Given the description of an element on the screen output the (x, y) to click on. 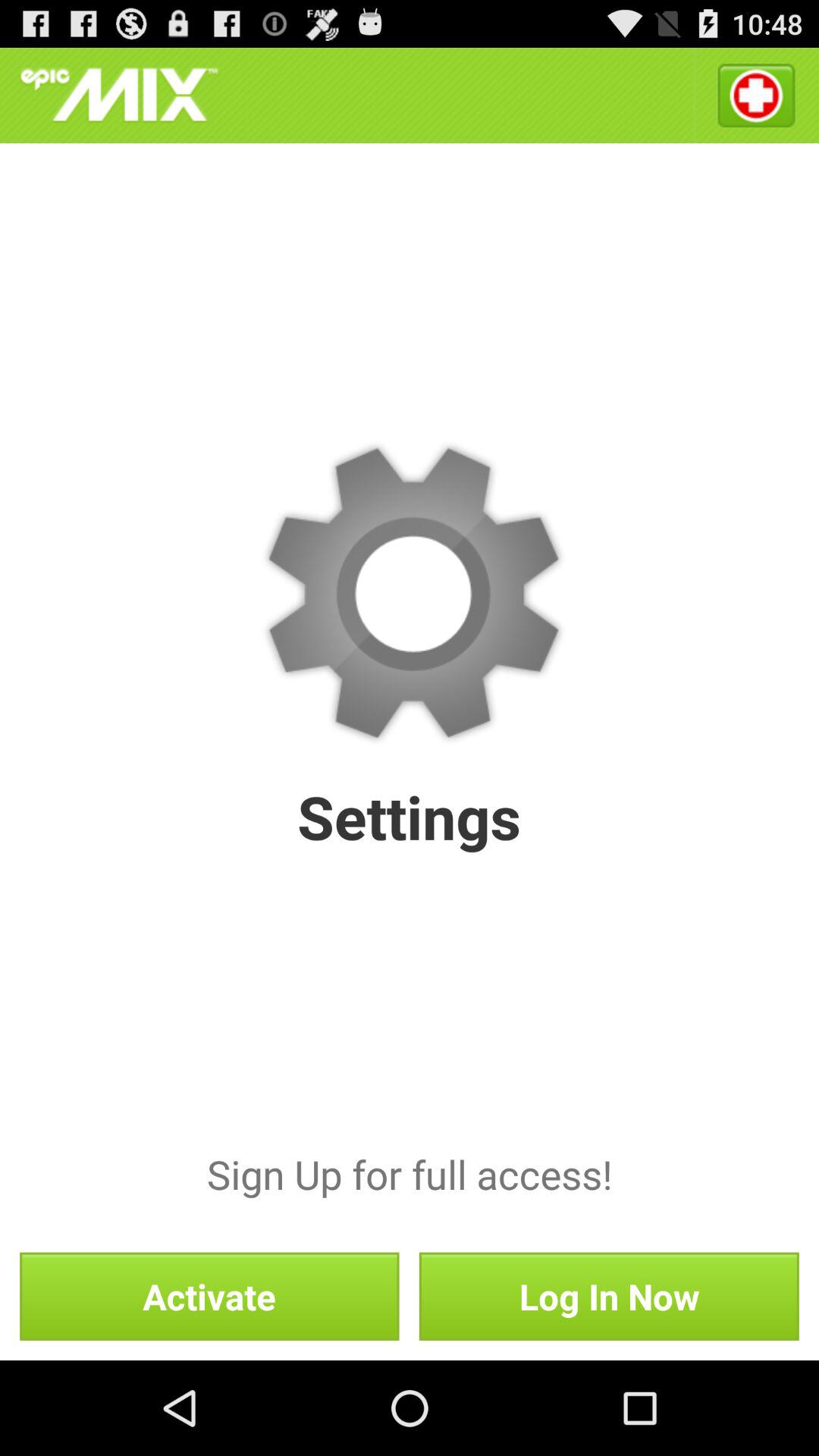
turn off log in now (609, 1296)
